Given the description of an element on the screen output the (x, y) to click on. 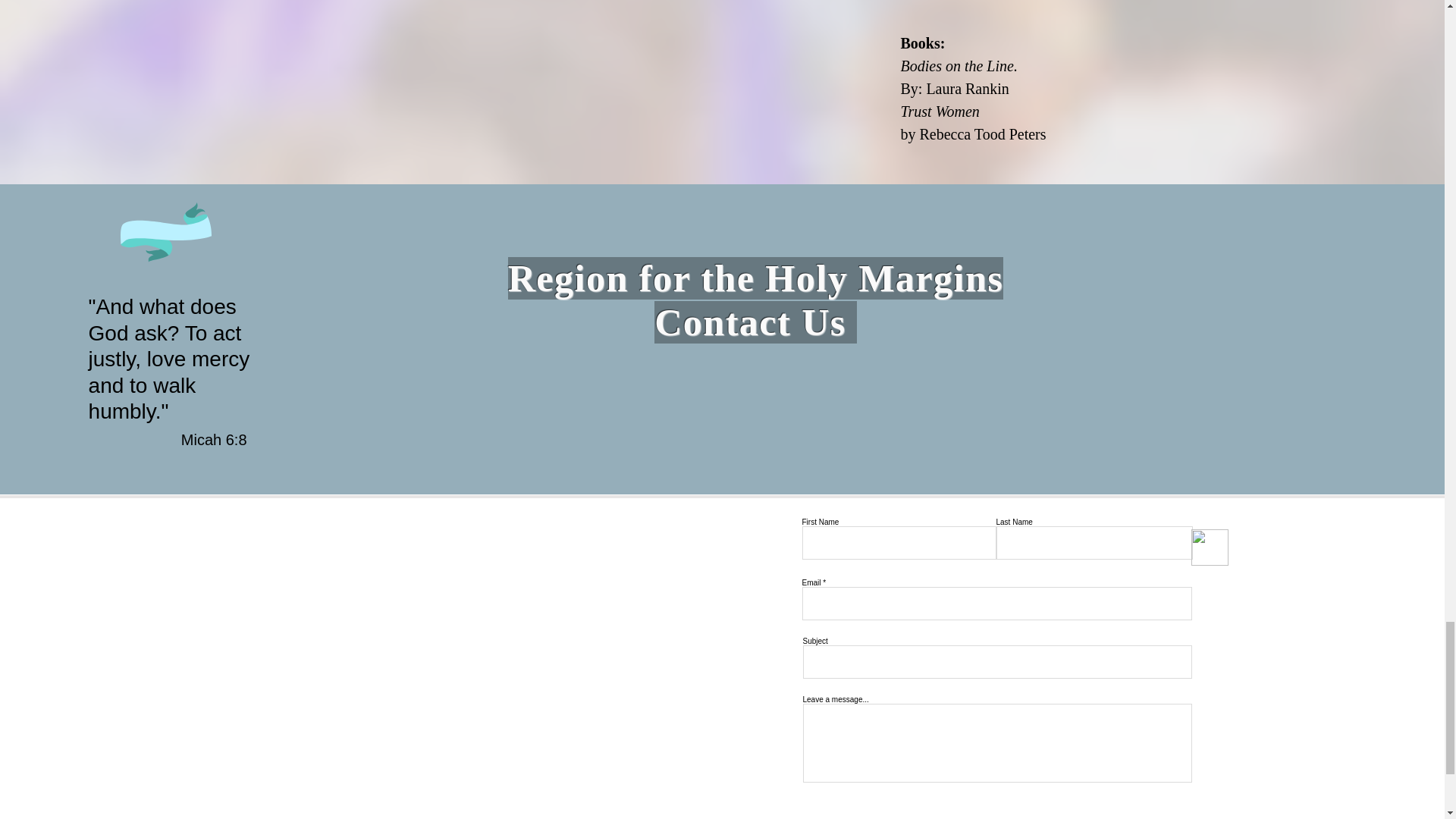
Submit (875, 816)
